Given the description of an element on the screen output the (x, y) to click on. 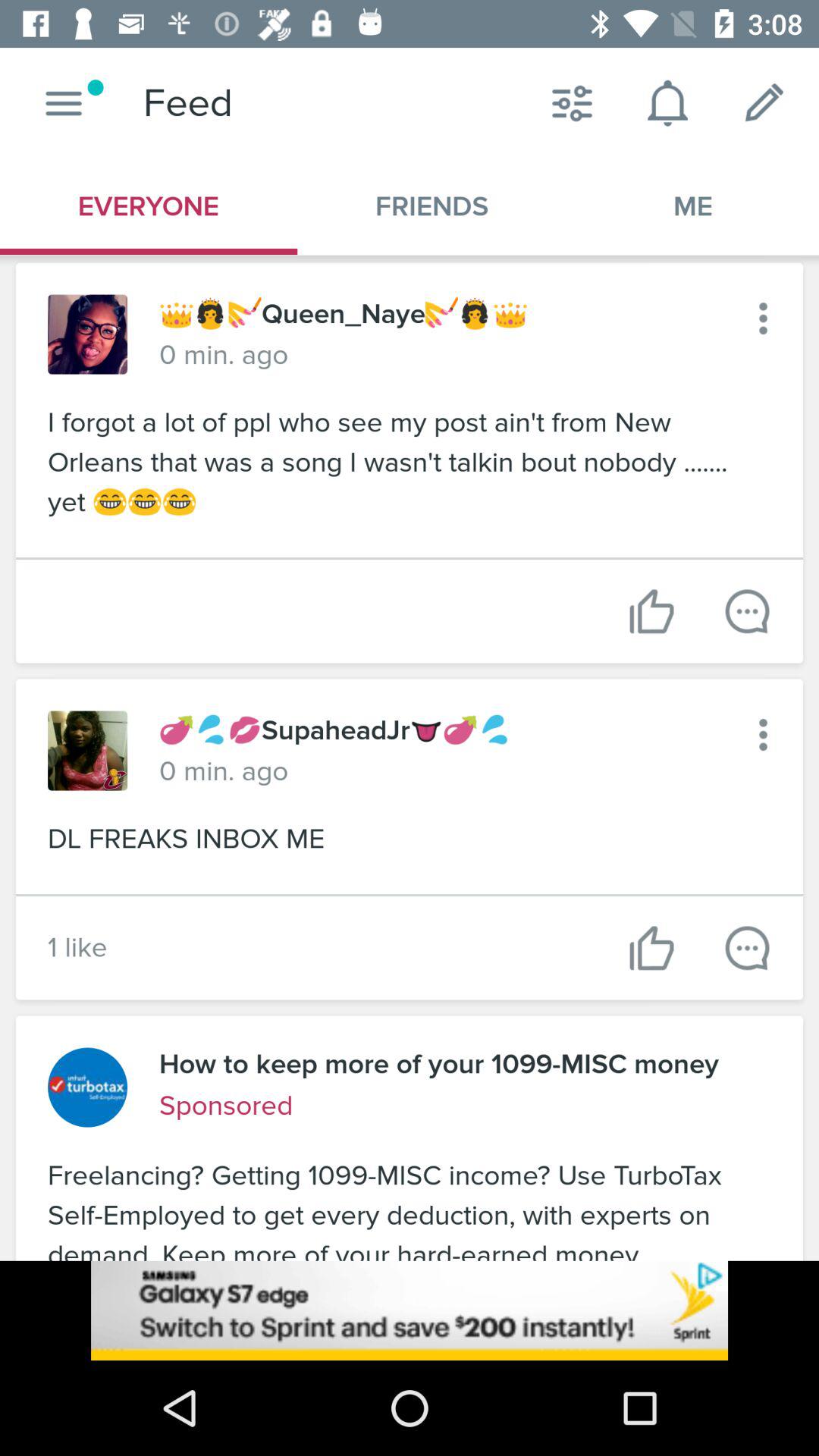
open profile (87, 334)
